Given the description of an element on the screen output the (x, y) to click on. 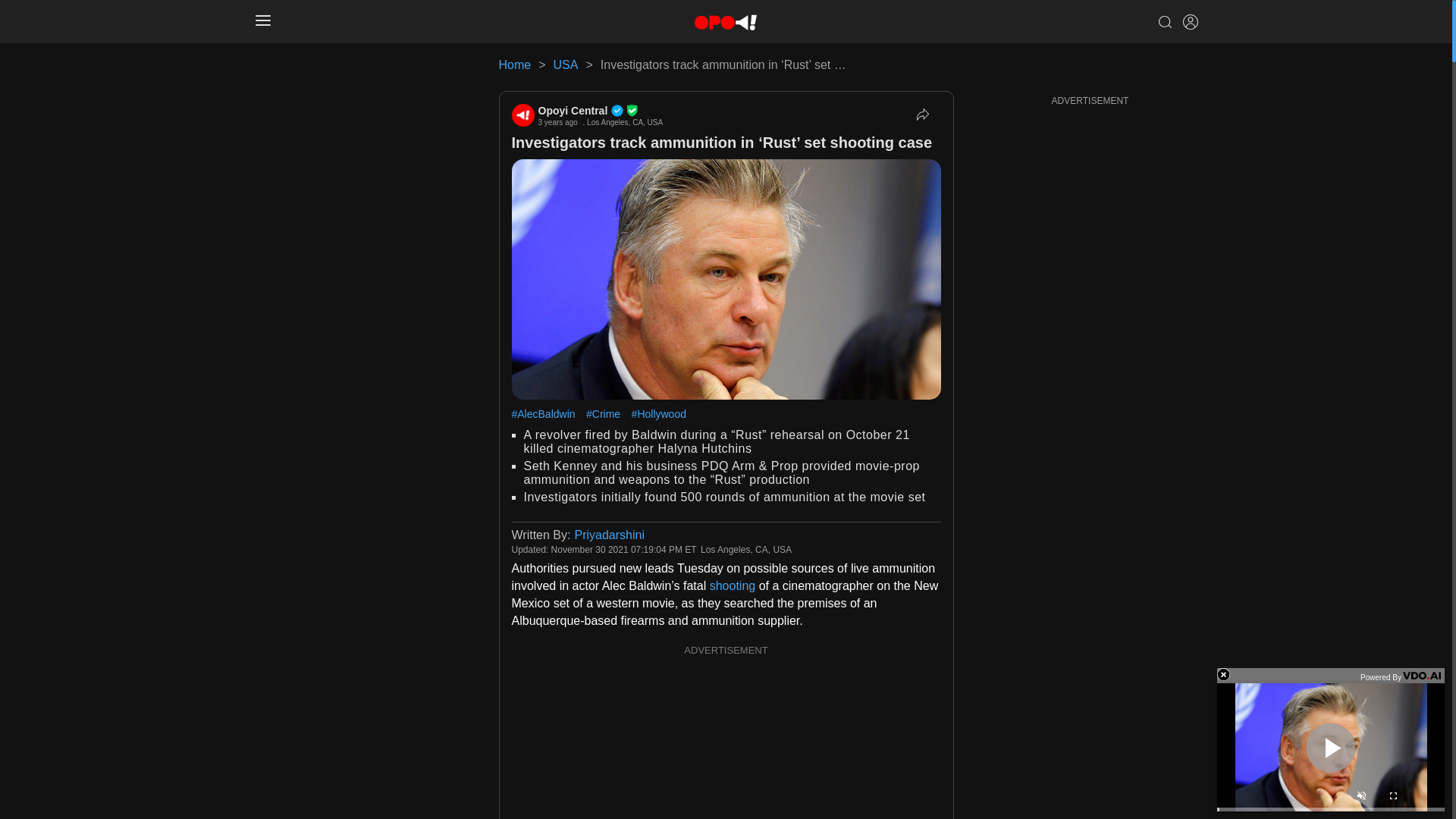
Play (1330, 747)
Opoyi Central (600, 110)
Unmute (1360, 797)
USA (565, 64)
3rd party ad content (726, 739)
Fullscreen (1392, 797)
 Opoyi Central (522, 115)
Priyadarshini (608, 534)
Home (515, 64)
Opoyi Central (600, 110)
